Given the description of an element on the screen output the (x, y) to click on. 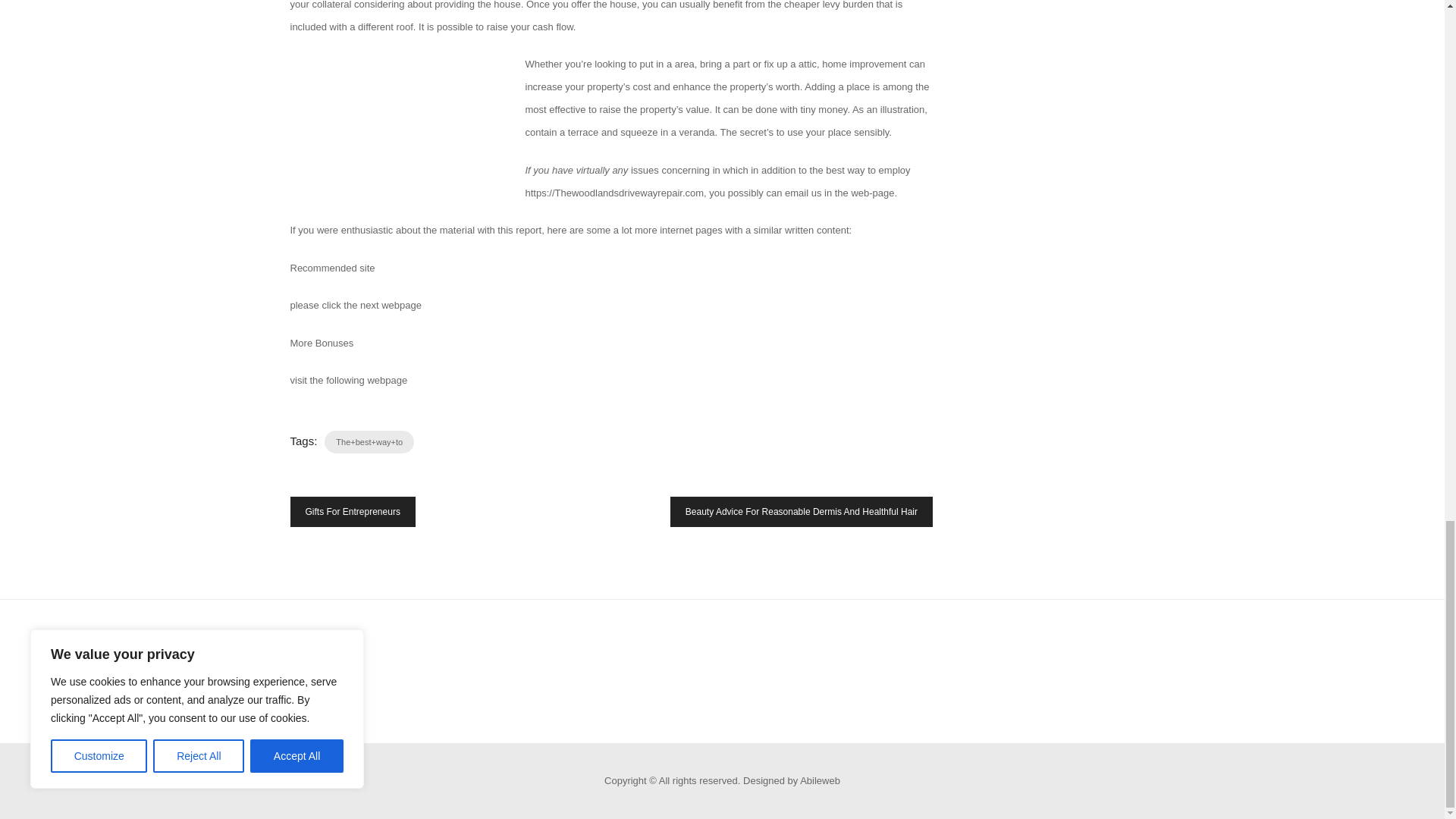
Gifts For Entrepreneurs (351, 511)
visit the following webpage (348, 379)
More Bonuses (321, 342)
Beauty Advice For Reasonable Dermis And Healthful Hair (801, 511)
Recommended site (331, 267)
please click the next webpage (354, 305)
